Given the description of an element on the screen output the (x, y) to click on. 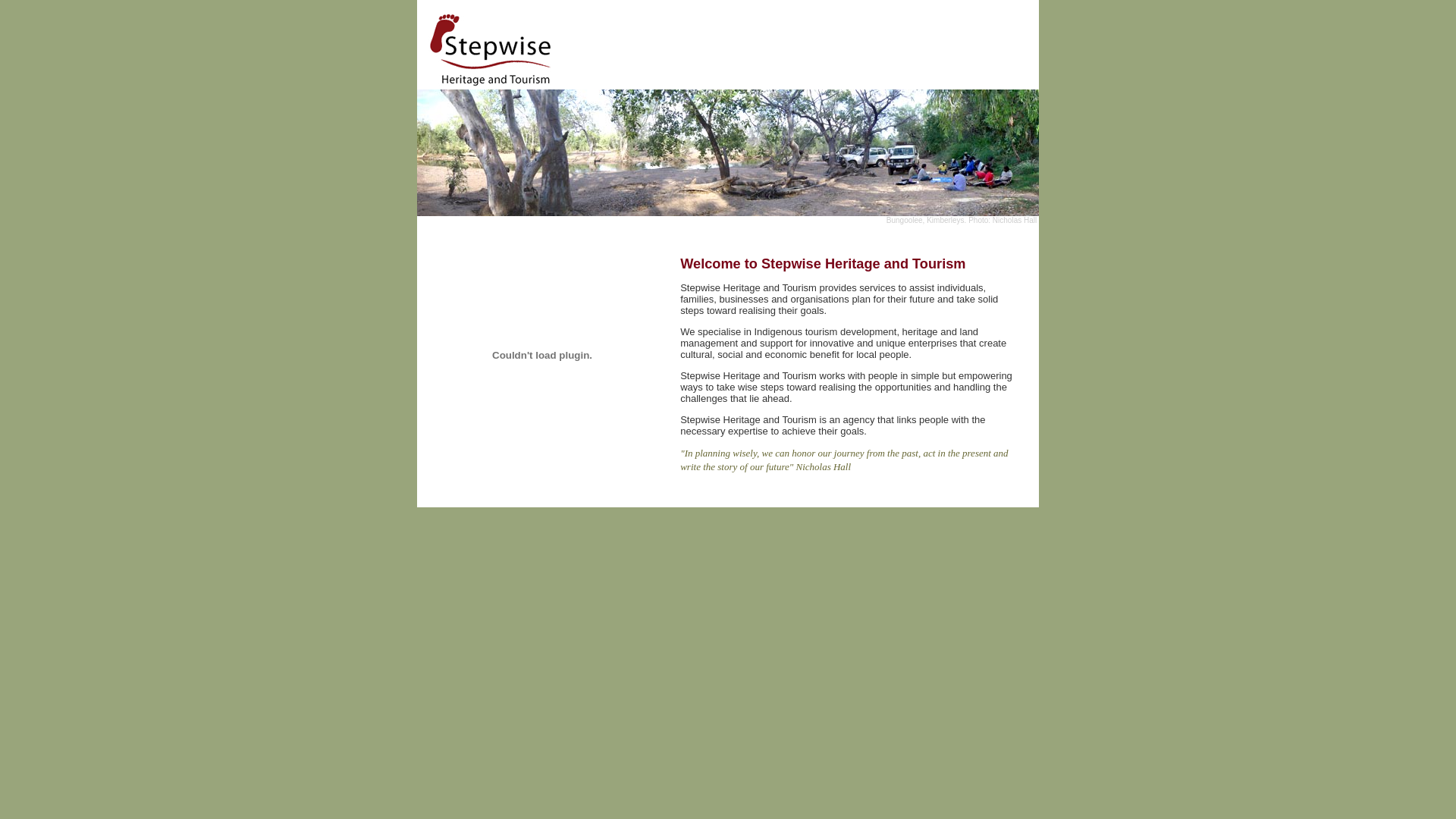
walkng feet Element type: hover (542, 355)
